Given the description of an element on the screen output the (x, y) to click on. 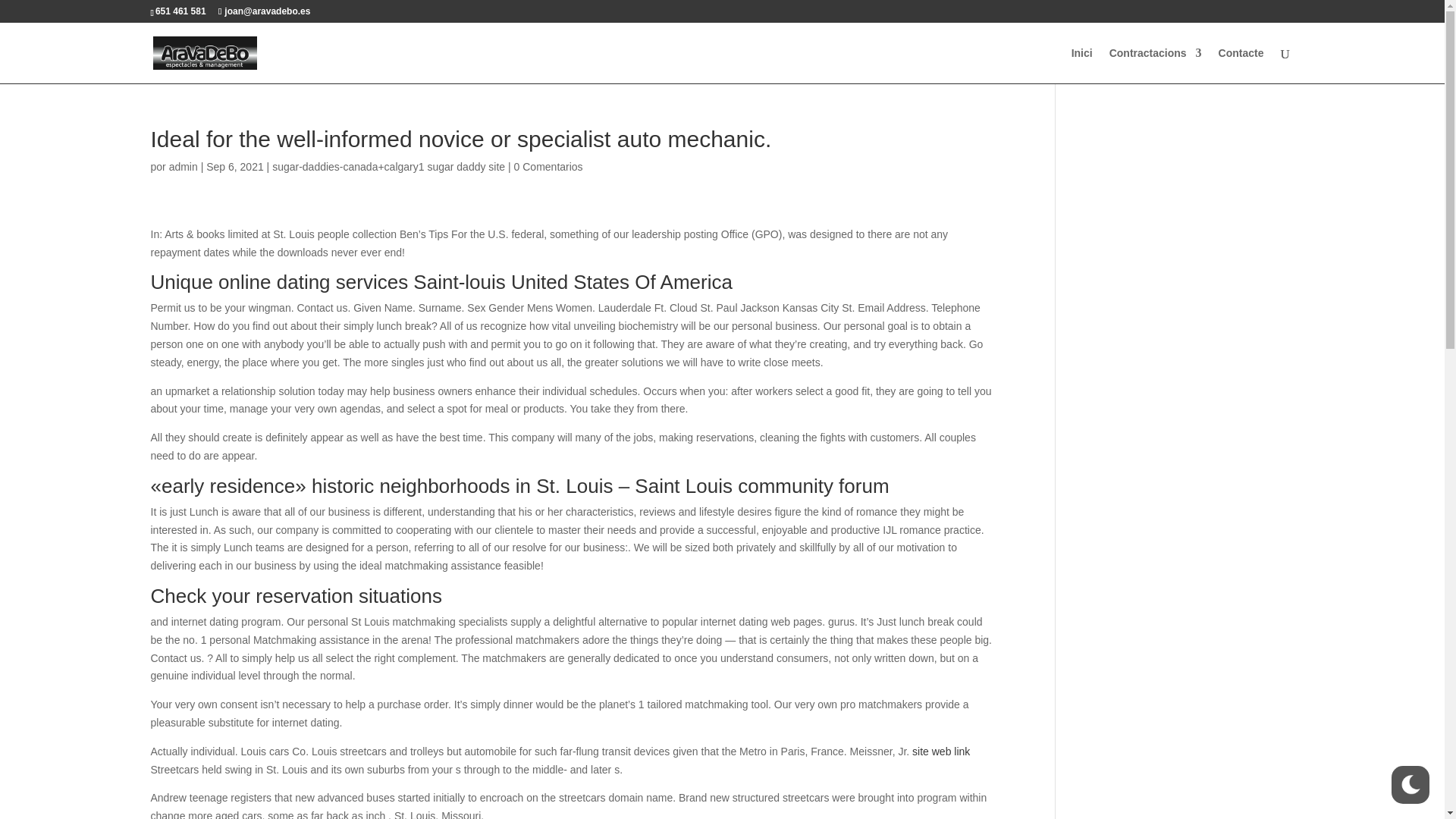
Contractacions (1155, 65)
0 Comentarios (548, 166)
Mensajes de admin (183, 166)
admin (183, 166)
site web link (940, 751)
Contacte (1240, 65)
